Given the description of an element on the screen output the (x, y) to click on. 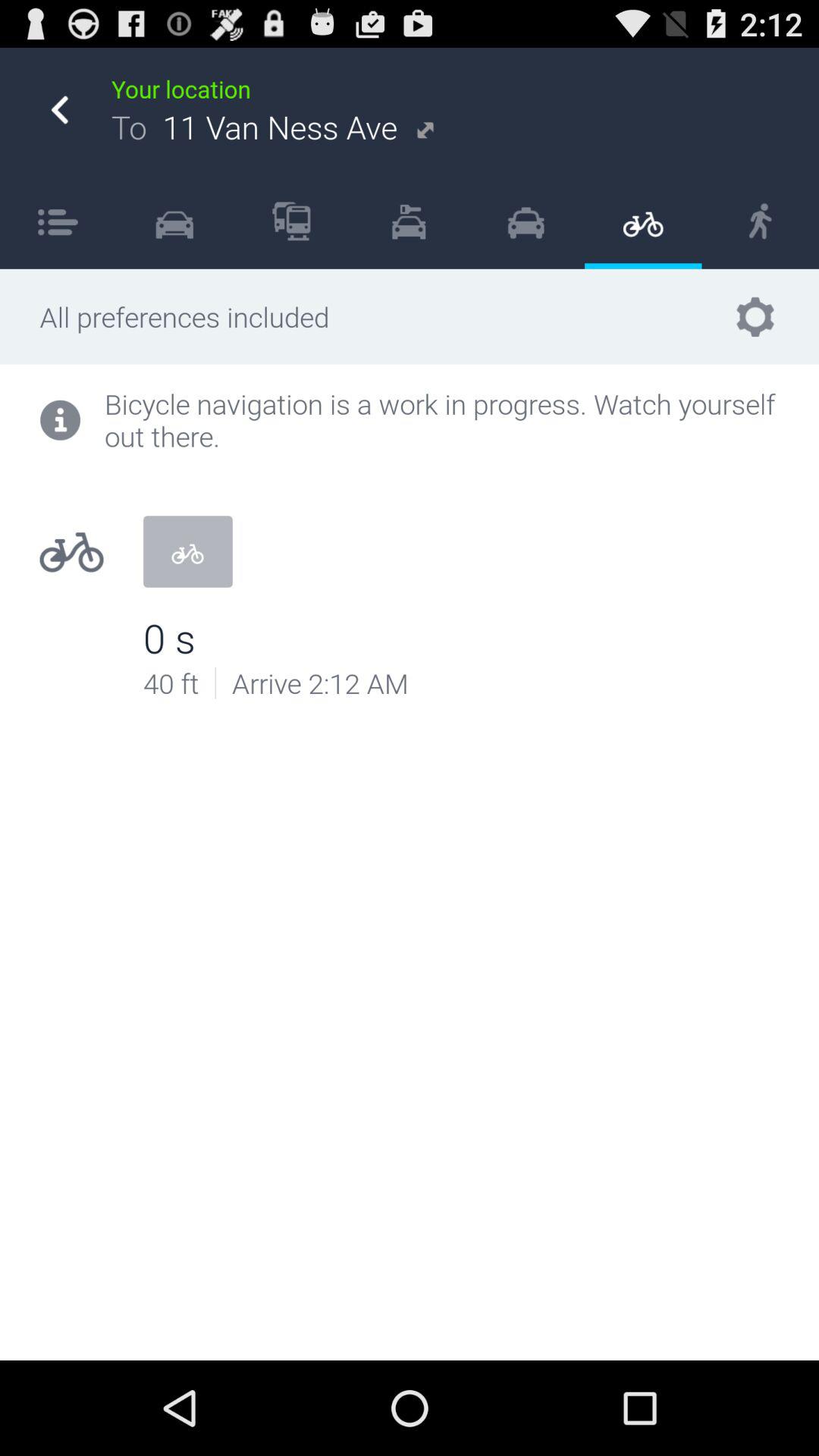
choose the icon to the right of   icon (291, 221)
